Given the description of an element on the screen output the (x, y) to click on. 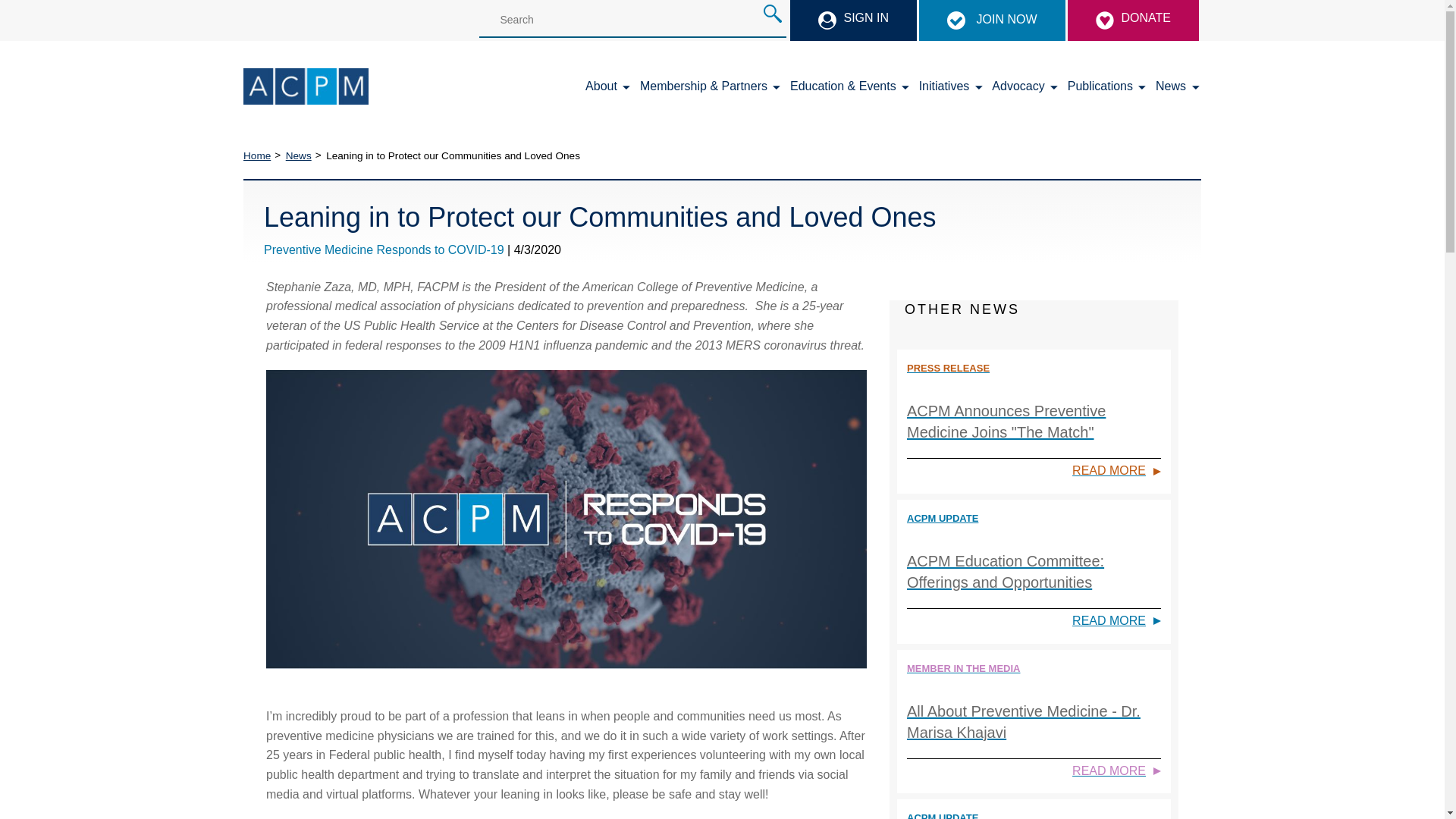
Submit search (772, 13)
DONATE (1132, 20)
JOIN NOW (992, 19)
Site Logo (305, 85)
SIGN IN (853, 20)
JOIN NOW (991, 20)
